Given the description of an element on the screen output the (x, y) to click on. 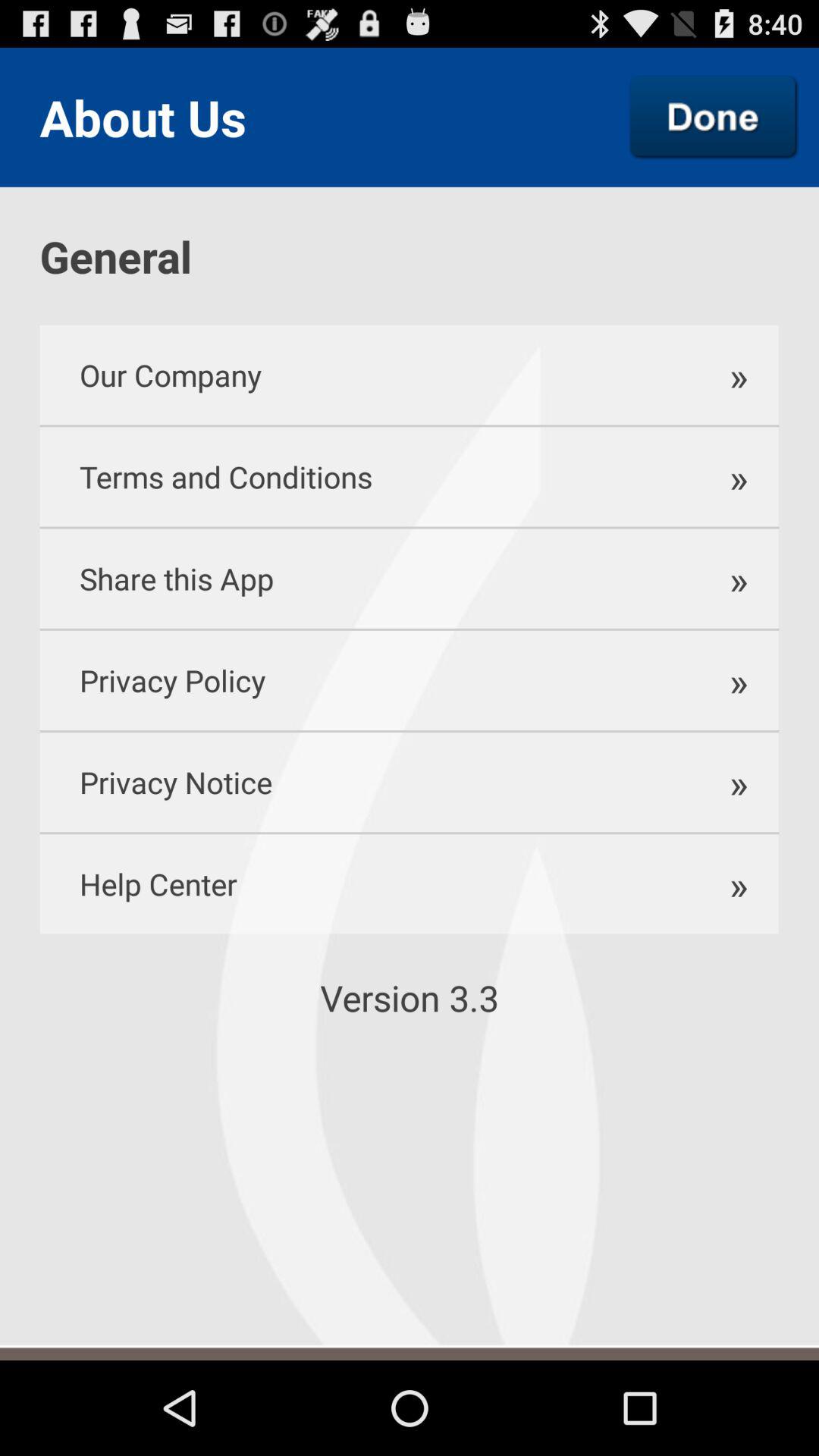
launch the item above the version 3.3 icon (359, 883)
